Given the description of an element on the screen output the (x, y) to click on. 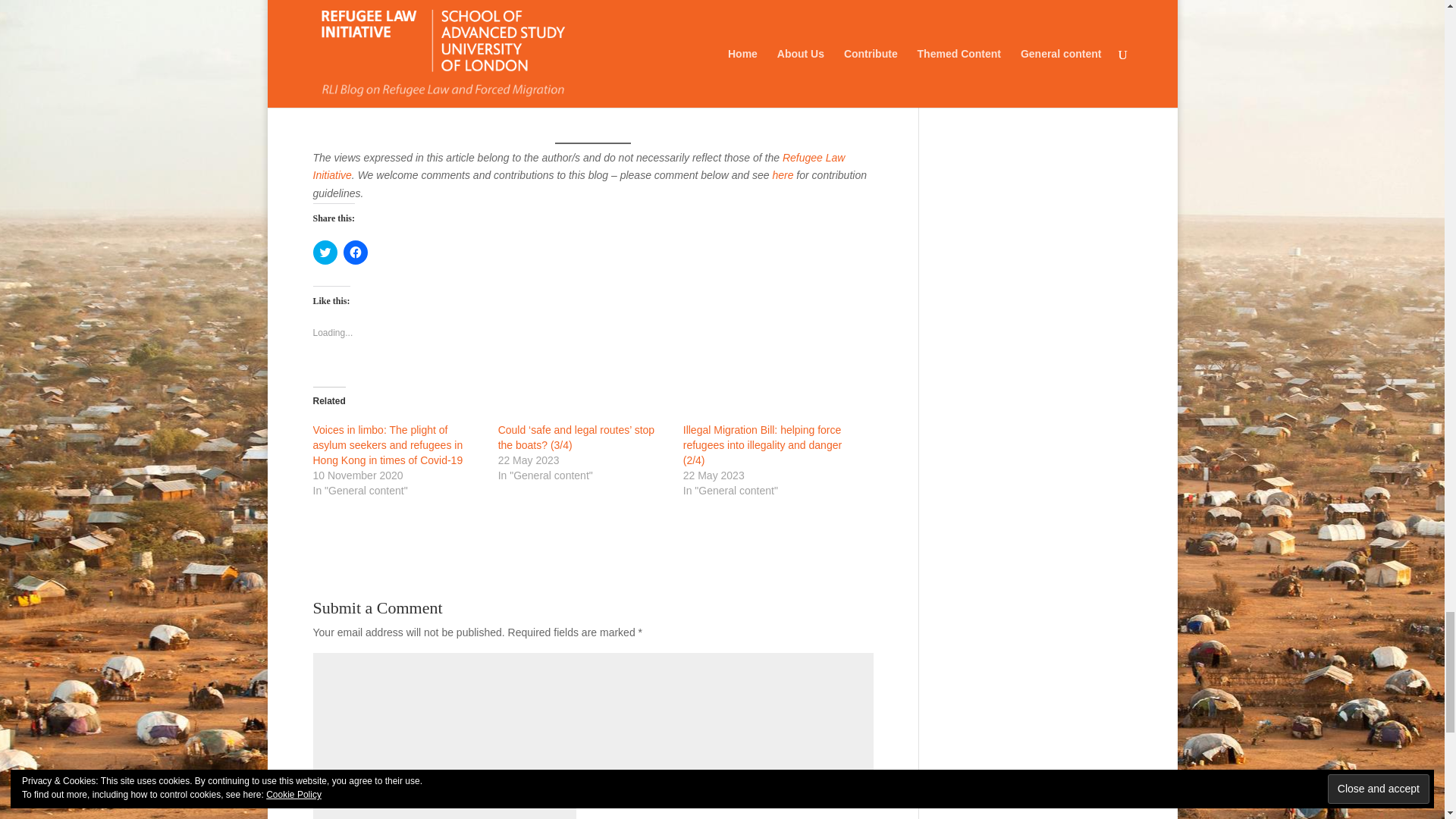
Click to share on Twitter (324, 252)
Click to share on Facebook (354, 252)
